Given the description of an element on the screen output the (x, y) to click on. 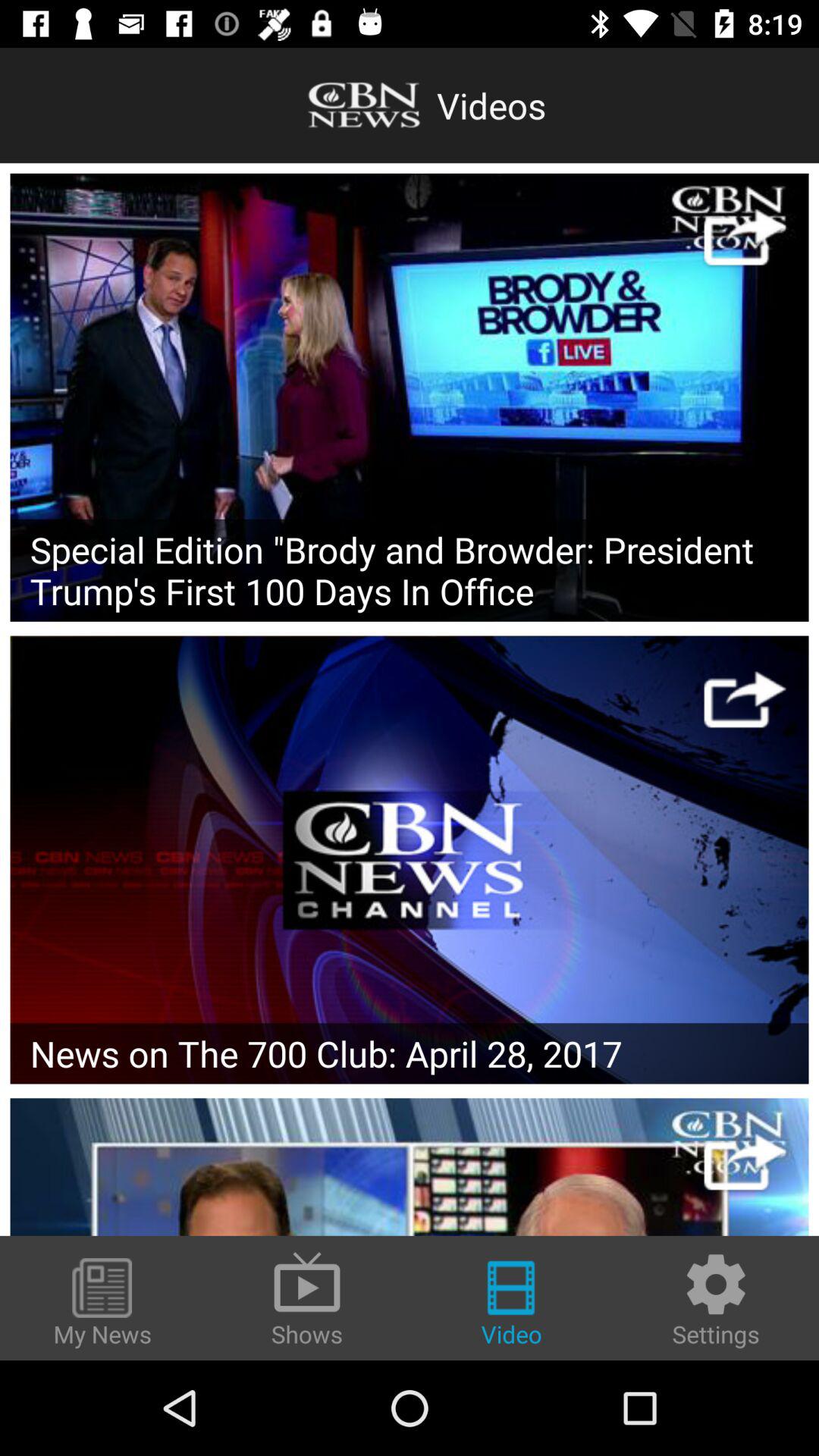
tap the icon next to the shows (102, 1304)
